Given the description of an element on the screen output the (x, y) to click on. 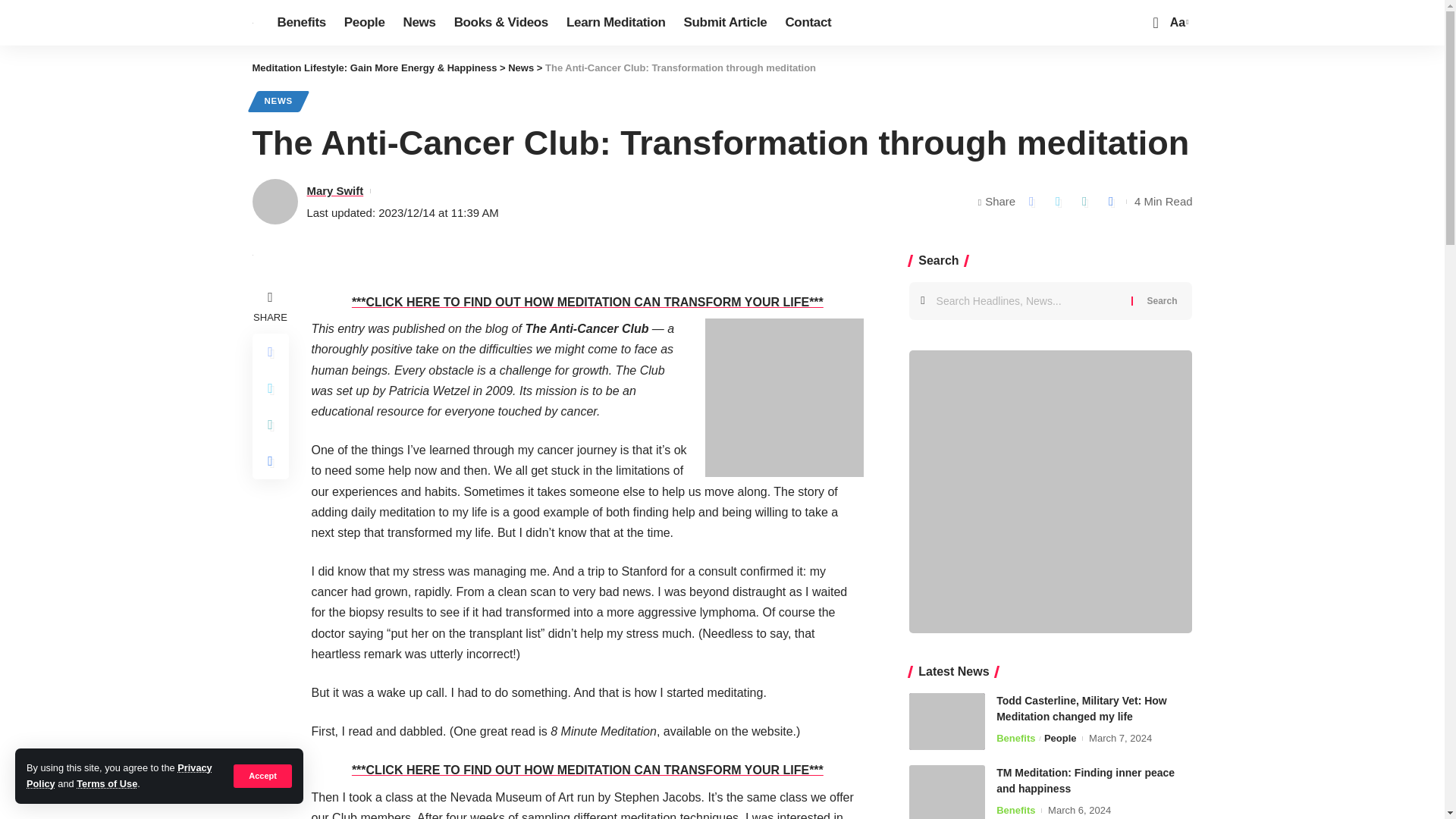
Aa (1177, 22)
TM Meditation: Finding inner peace and happiness (946, 791)
News (419, 22)
Contact (808, 22)
Submit Article (725, 22)
People (364, 22)
Benefits (300, 22)
Learn Meditation (616, 22)
Search (1161, 300)
